Given the description of an element on the screen output the (x, y) to click on. 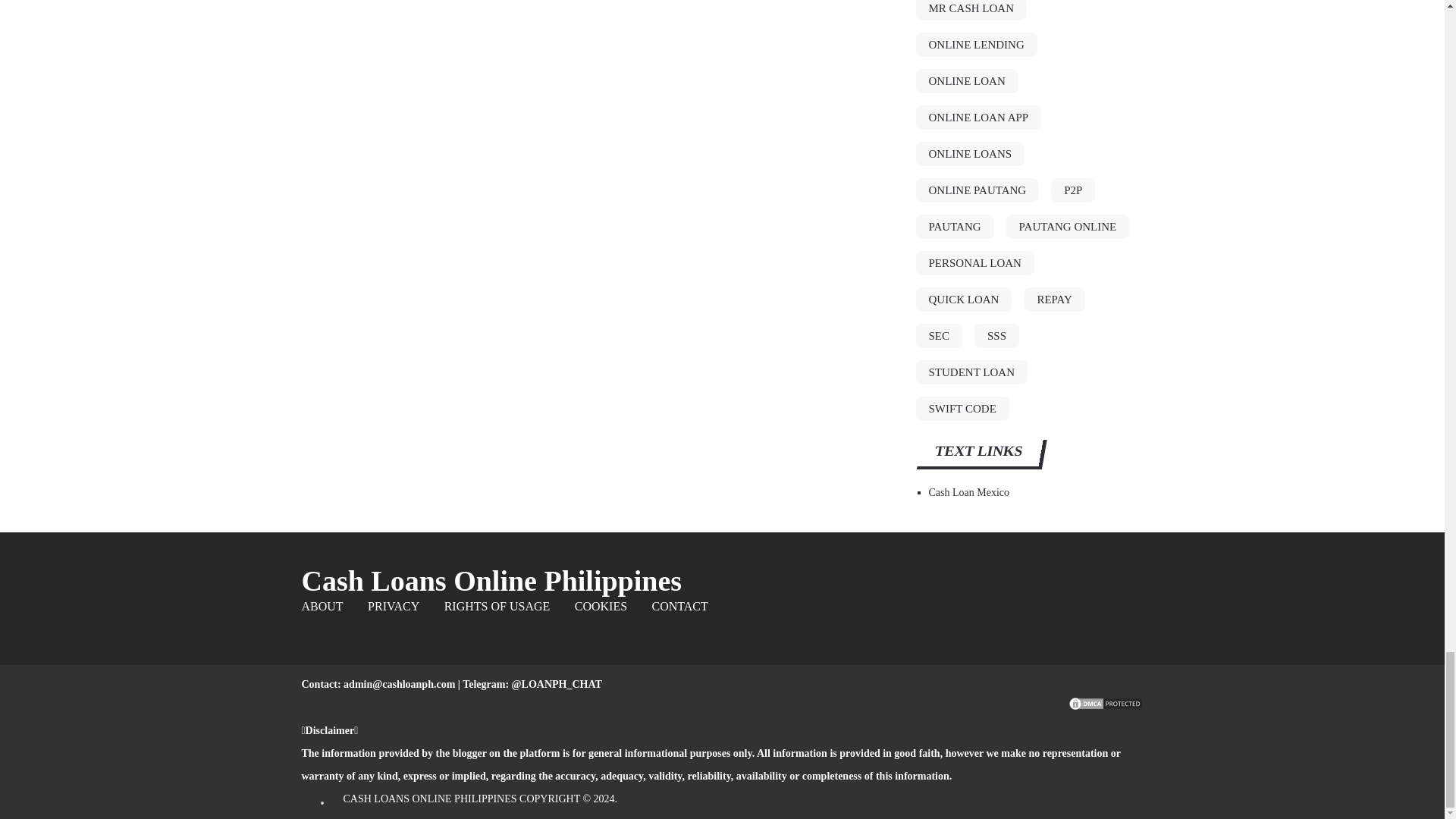
DMCA.com Protection Status (1104, 707)
